Given the description of an element on the screen output the (x, y) to click on. 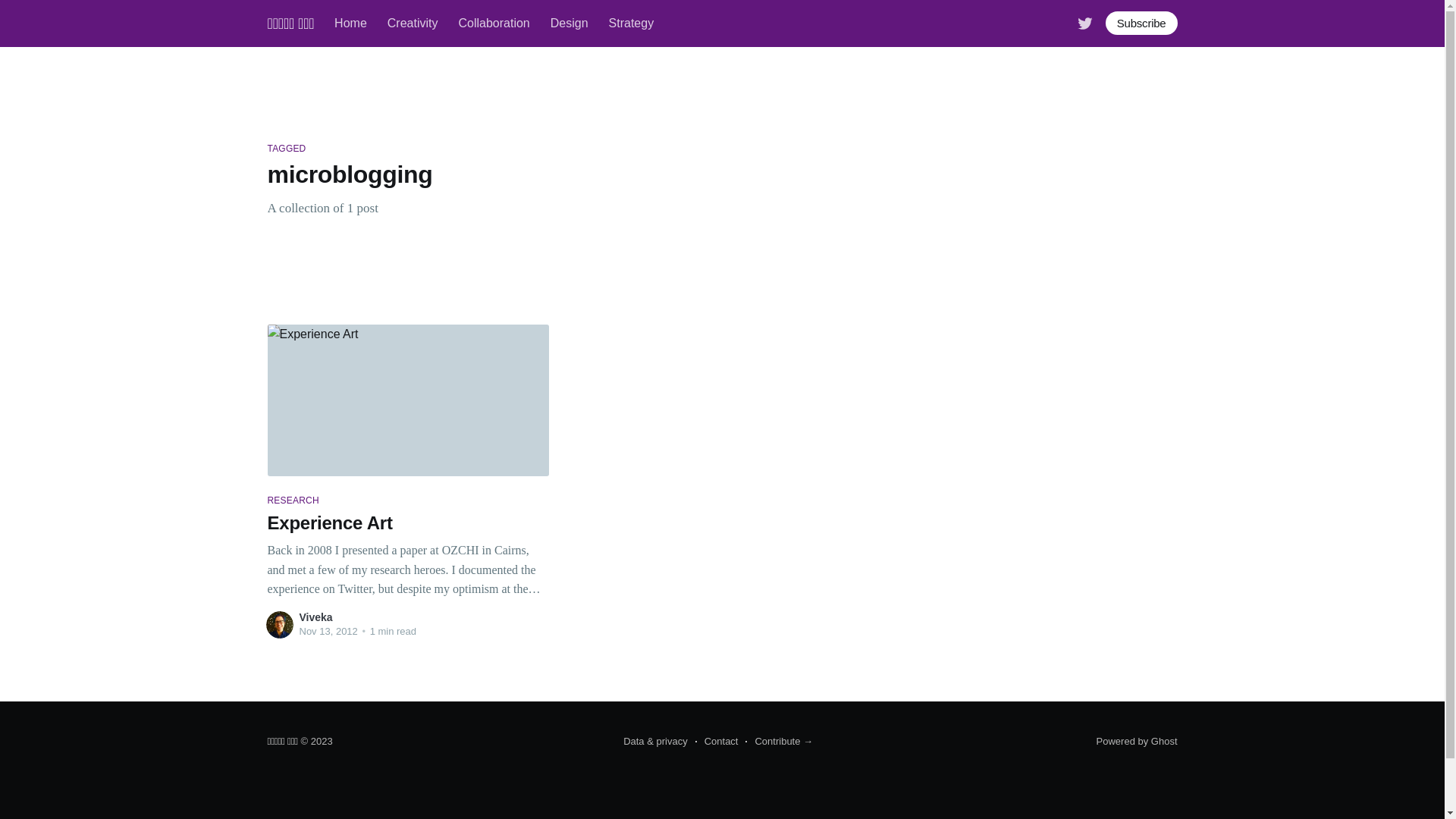
Powered by Ghost Element type: text (1136, 740)
Design Element type: text (569, 23)
Twitter Element type: hover (1084, 21)
Contact Element type: text (716, 741)
Subscribe Element type: text (1141, 22)
Data & privacy Element type: text (655, 741)
Viveka Element type: text (315, 617)
Home Element type: text (350, 23)
Creativity Element type: text (412, 23)
Collaboration Element type: text (493, 23)
Strategy Element type: text (631, 23)
